Given the description of an element on the screen output the (x, y) to click on. 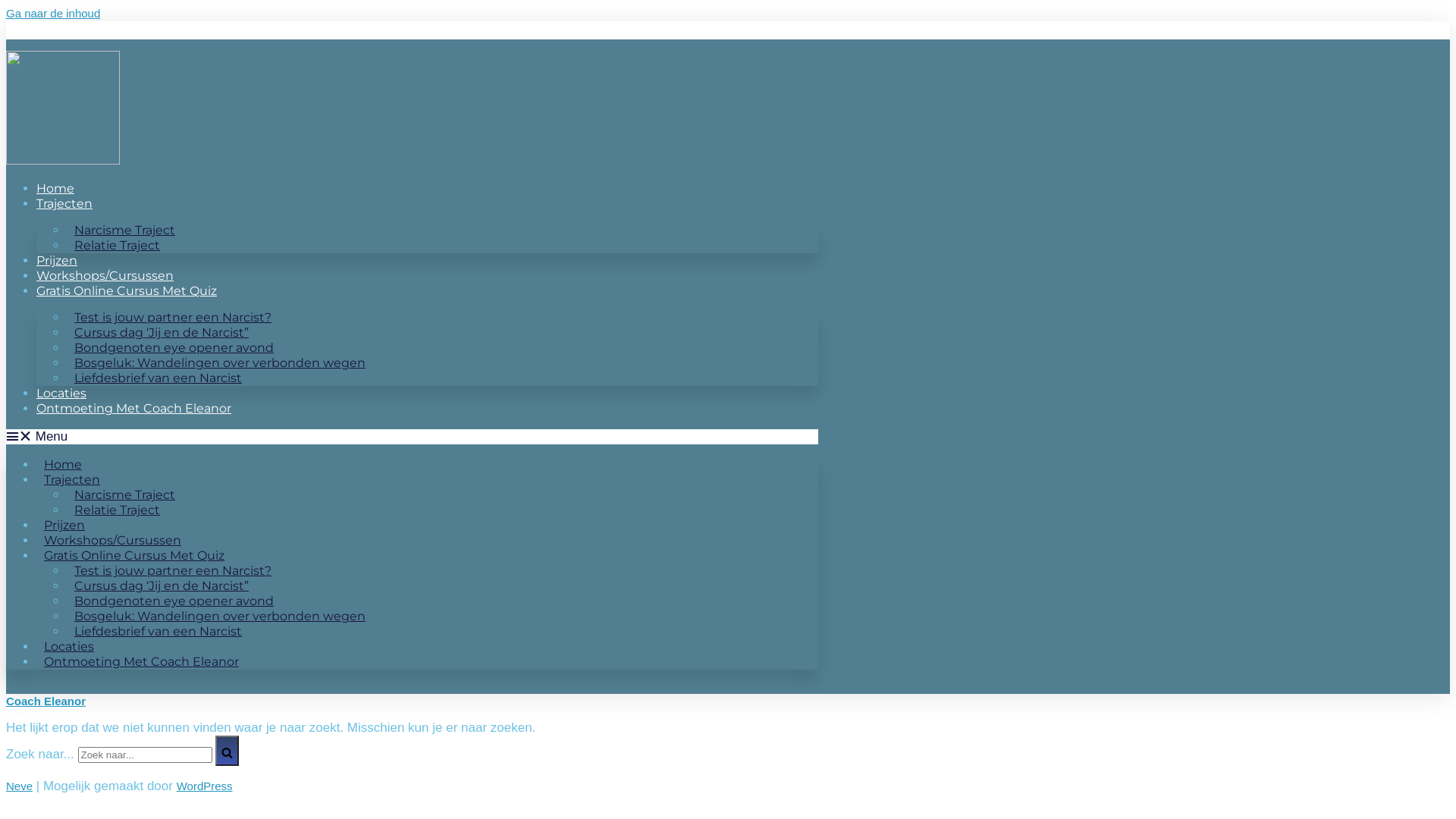
Ontmoeting Met Coach Eleanor Element type: text (141, 661)
Relatie Traject Element type: text (116, 509)
Neve Element type: text (19, 785)
Narcisme Traject Element type: text (124, 494)
Narcisme Traject Element type: text (124, 229)
Bosgeluk: Wandelingen over verbonden wegen Element type: text (219, 615)
Prijzen Element type: text (56, 260)
WordPress Element type: text (204, 785)
Home Element type: text (62, 464)
Gratis Online Cursus Met Quiz Element type: text (134, 555)
Bondgenoten eye opener avond Element type: text (173, 600)
Coach Eleanor Element type: text (45, 700)
Relatie Traject Element type: text (116, 244)
Home Element type: text (55, 188)
Workshops/Cursussen Element type: text (104, 275)
Liefdesbrief van een Narcist Element type: text (157, 377)
Prijzen Element type: text (64, 524)
Gratis Online Cursus Met Quiz Element type: text (126, 290)
Trajecten Element type: text (71, 479)
Workshops/Cursussen Element type: text (112, 539)
Test is jouw partner een Narcist? Element type: text (172, 570)
Ga naar de inhoud Element type: text (53, 12)
Ontmoeting Met Coach Eleanor Element type: text (133, 408)
Bosgeluk: Wandelingen over verbonden wegen Element type: text (219, 362)
Locaties Element type: text (61, 392)
Trajecten Element type: text (64, 203)
Bondgenoten eye opener avond Element type: text (173, 347)
Liefdesbrief van een Narcist Element type: text (157, 630)
Locaties Element type: text (68, 646)
Test is jouw partner een Narcist? Element type: text (172, 316)
